Given the description of an element on the screen output the (x, y) to click on. 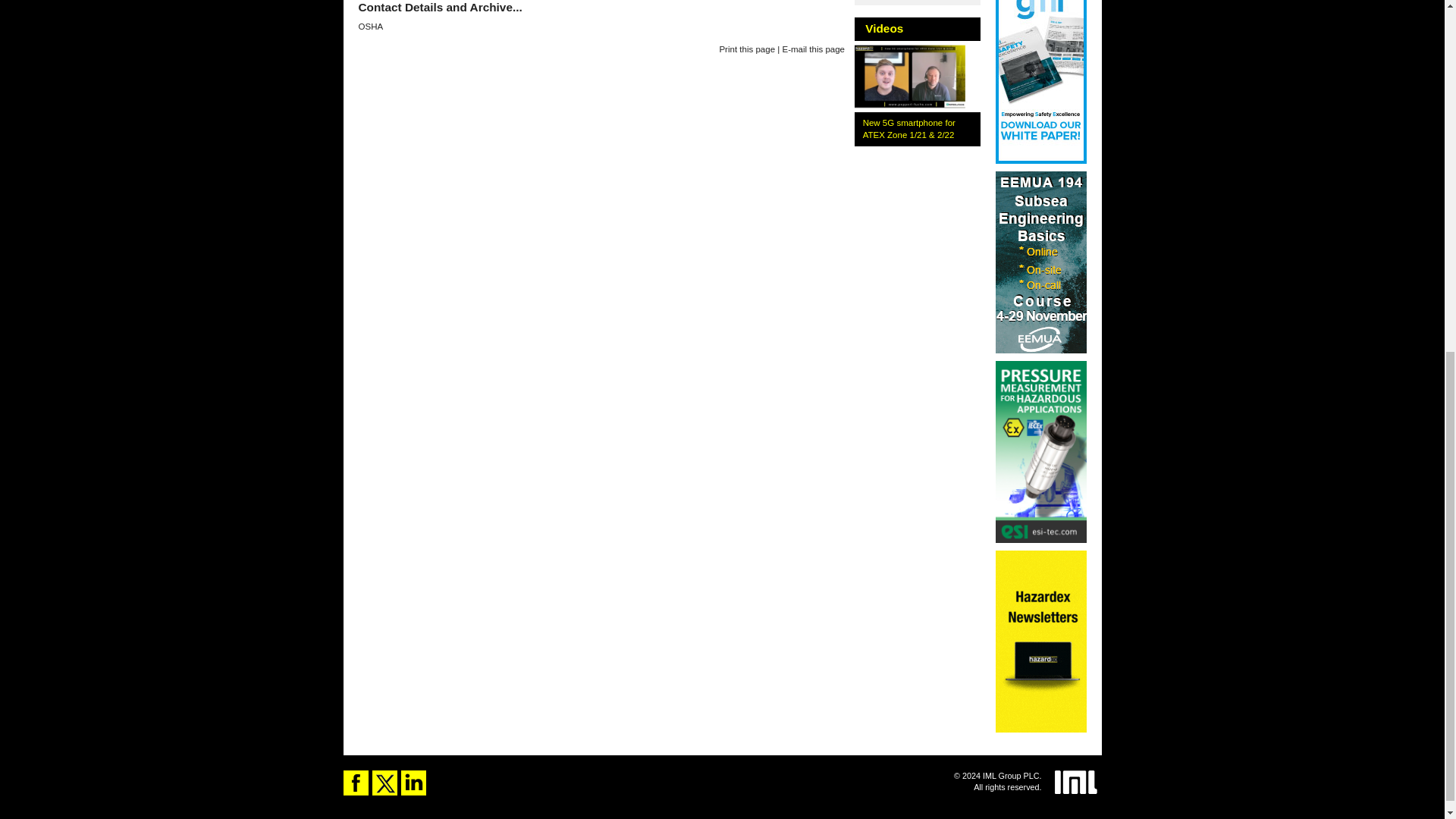
Twitter (383, 782)
Facebook (355, 782)
LinkedIn (412, 782)
